Given the description of an element on the screen output the (x, y) to click on. 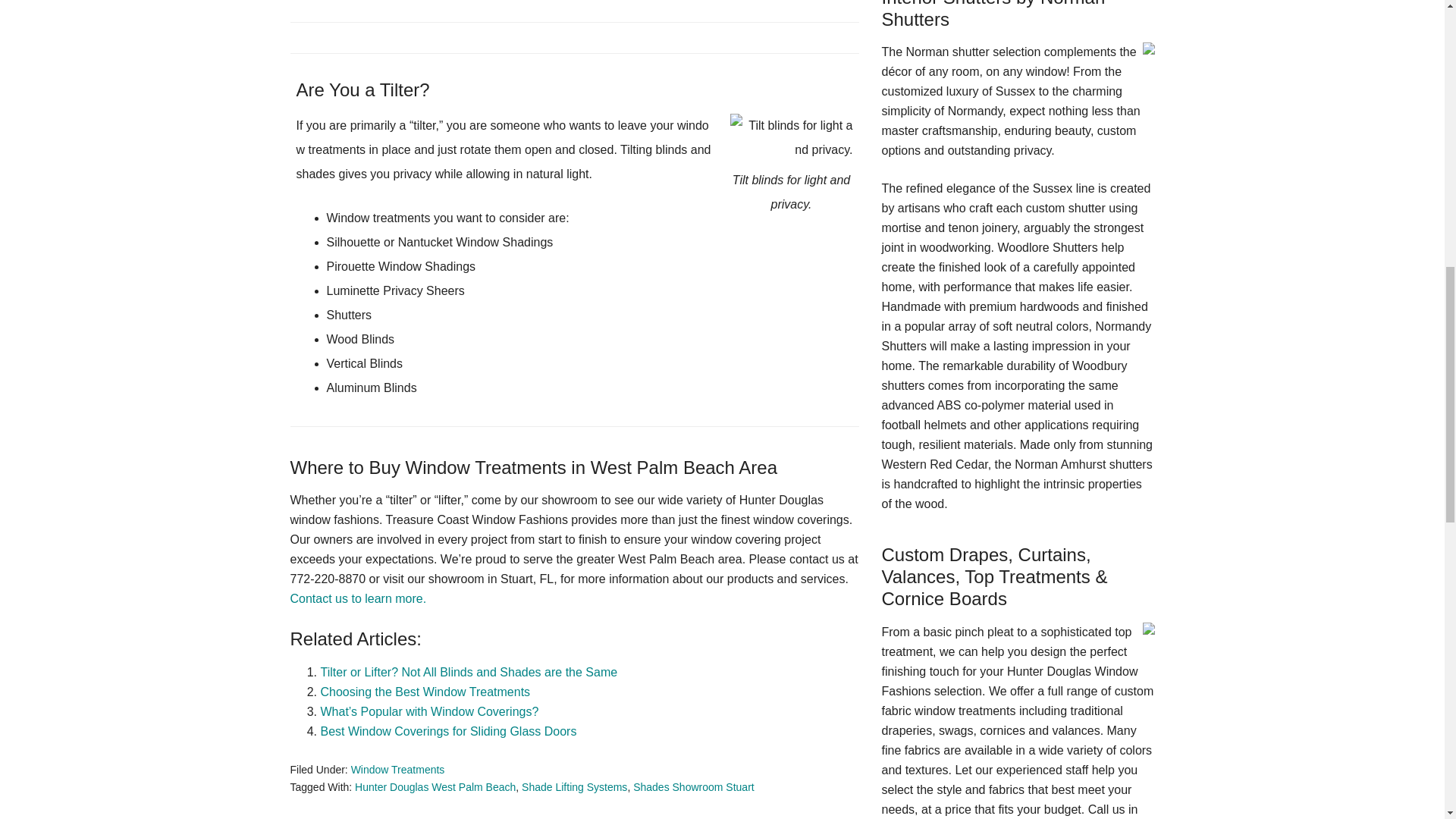
Shades Showroom Stuart (693, 787)
Tilter or Lifter? Not All Blinds and Shades are the Same (468, 671)
Best Window Coverings for Sliding Glass Doors (448, 730)
Tilter or Lifter? Not All Blinds and Shades are the Same (468, 671)
Choosing the Best Window Treatments (424, 691)
Hunter Douglas West Palm Beach (435, 787)
Window Treatments (397, 769)
Shade Lifting Systems (574, 787)
Contact us to learn more. (357, 598)
Best Window Coverings for Sliding Glass Doors (448, 730)
